Given the description of an element on the screen output the (x, y) to click on. 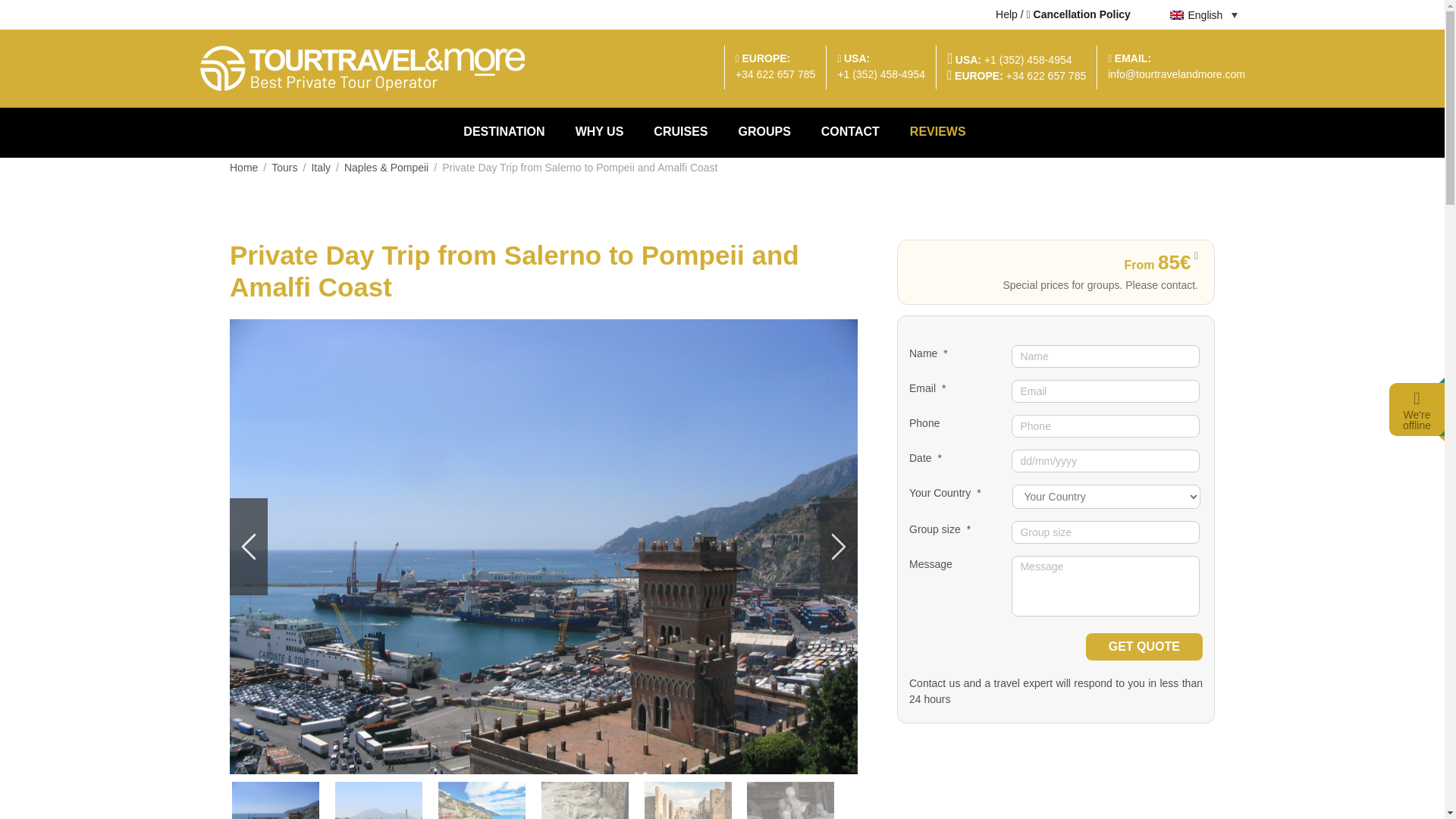
English (1202, 14)
DESTINATION (511, 132)
Italy (320, 167)
WHY US (599, 132)
GROUPS (763, 132)
REVIEWS (938, 132)
CRUISES (680, 132)
 Cancellation Policy (1078, 14)
CONTACT (850, 132)
Home (243, 167)
Help (1006, 14)
GET QUOTE (1144, 646)
We're offline (1417, 419)
Tours (283, 167)
